Given the description of an element on the screen output the (x, y) to click on. 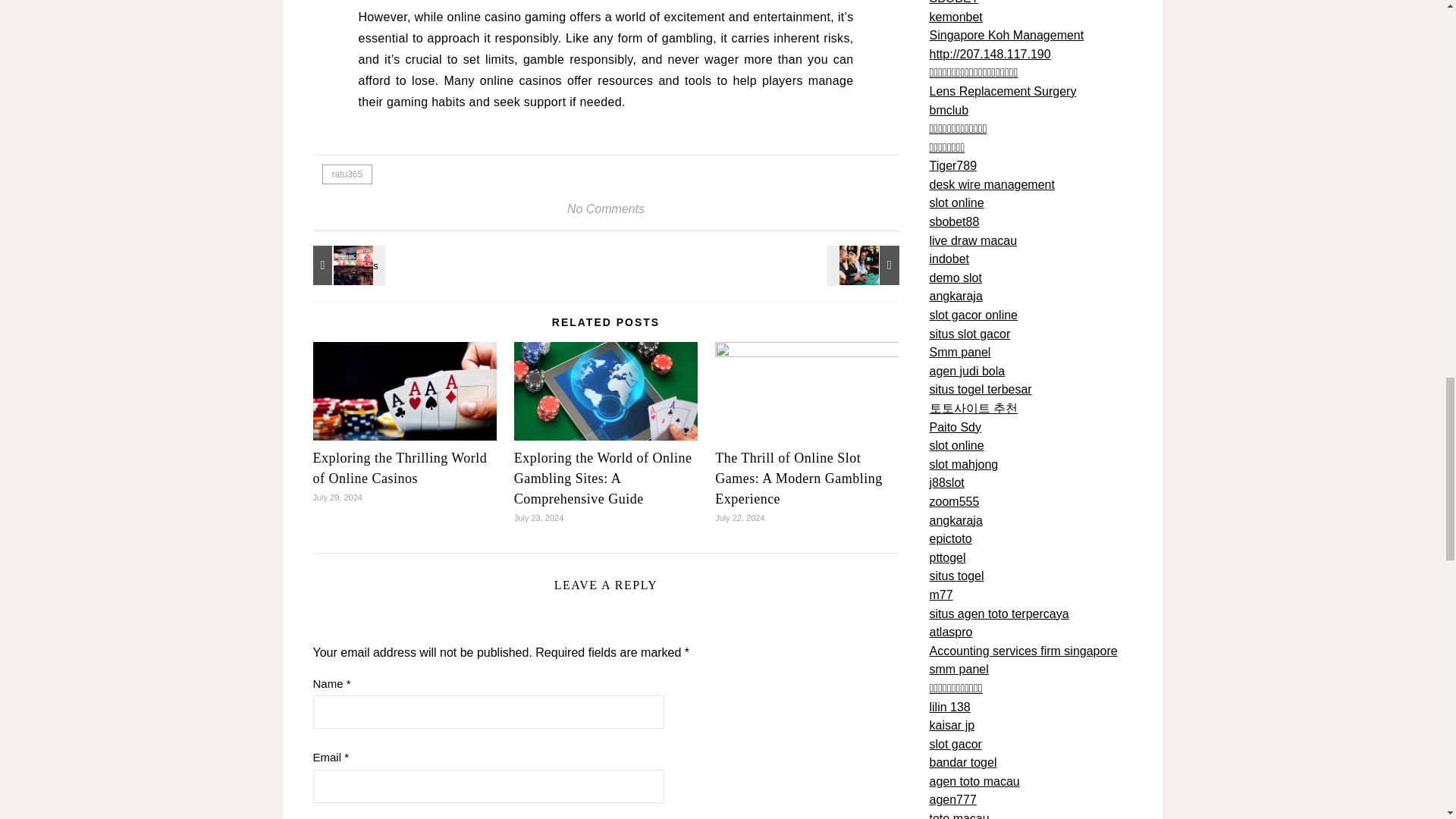
No Comments (606, 208)
Master the Art of Live Sports Casino Gaming (346, 265)
Exploring the Thrilling World of Online Casinos (399, 468)
ratu365 (346, 174)
